Given the description of an element on the screen output the (x, y) to click on. 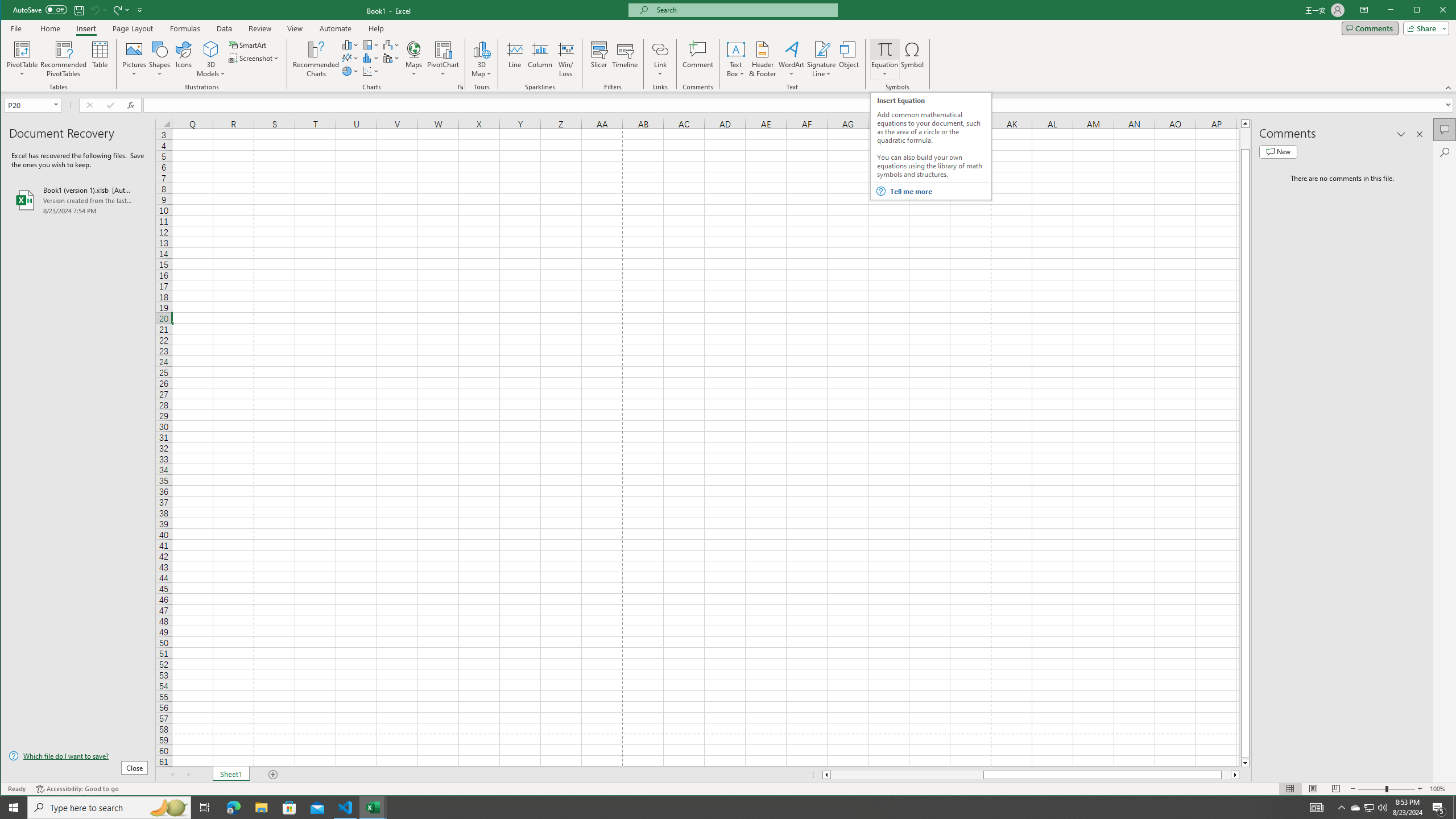
Insert Waterfall, Funnel, Stock, Surface, or Radar Chart (391, 44)
AutomationID: 4105 (1316, 807)
Notification Chevron (1341, 807)
Pictures (134, 59)
Line (514, 59)
Insert Column or Bar Chart (350, 44)
Maps (413, 59)
Column (540, 59)
Insert Pie or Doughnut Chart (350, 70)
Microsoft Edge (233, 807)
Signature Line (821, 59)
Icons (183, 59)
